Given the description of an element on the screen output the (x, y) to click on. 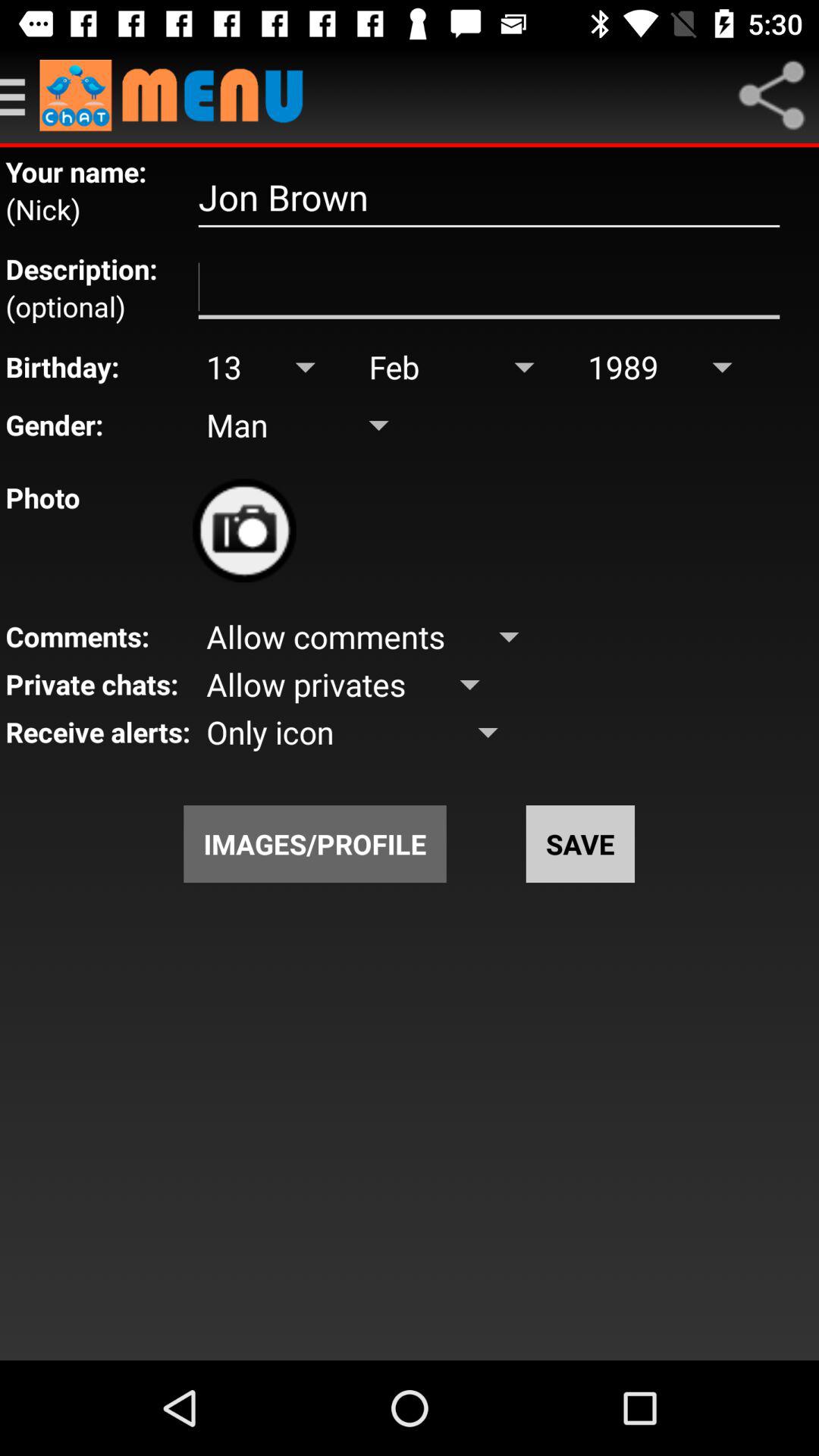
upload photo (244, 530)
